Given the description of an element on the screen output the (x, y) to click on. 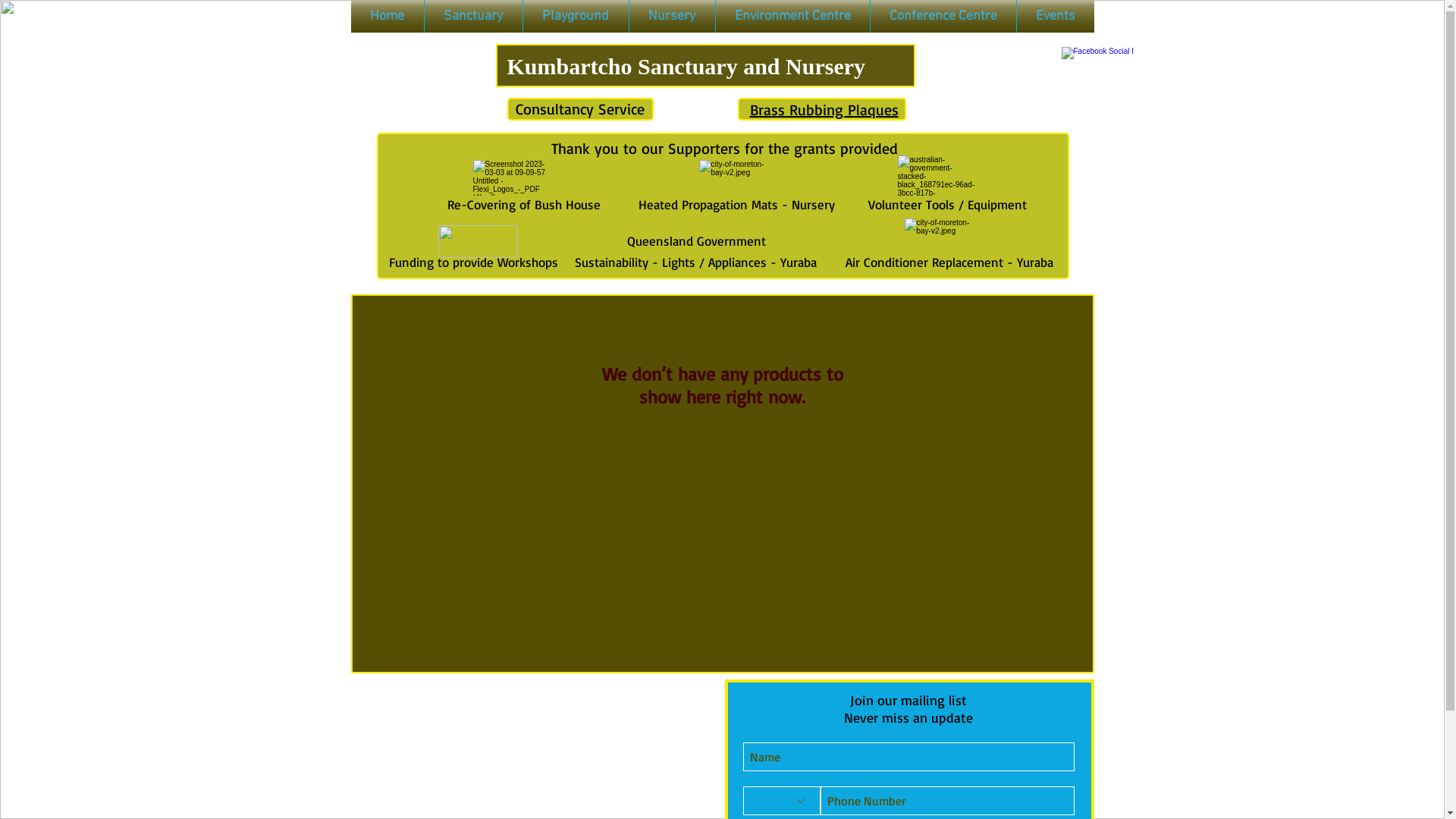
Home Element type: text (386, 16)
Environment Centre Element type: text (792, 16)
Conference Centre Element type: text (943, 16)
Playground Element type: text (575, 16)
Sanctuary Element type: text (473, 16)
Nursery Element type: text (672, 16)
Brass Rubbing Plaques Element type: text (823, 109)
Consultancy Service Element type: text (579, 108)
Events Element type: text (1054, 16)
nab-logo-optimised.jpeg Element type: hover (477, 241)
